Given the description of an element on the screen output the (x, y) to click on. 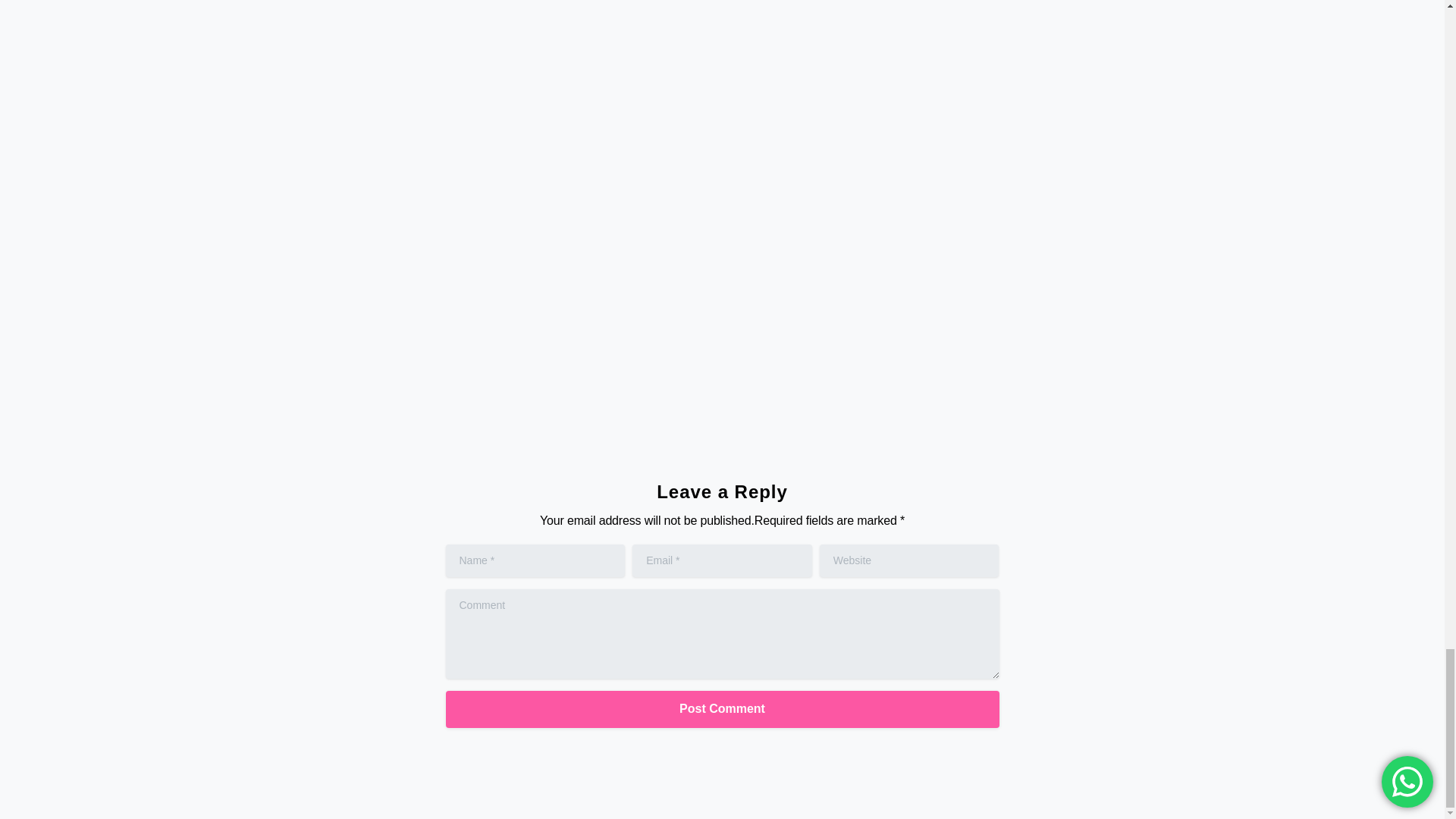
Post Comment (721, 709)
